Given the description of an element on the screen output the (x, y) to click on. 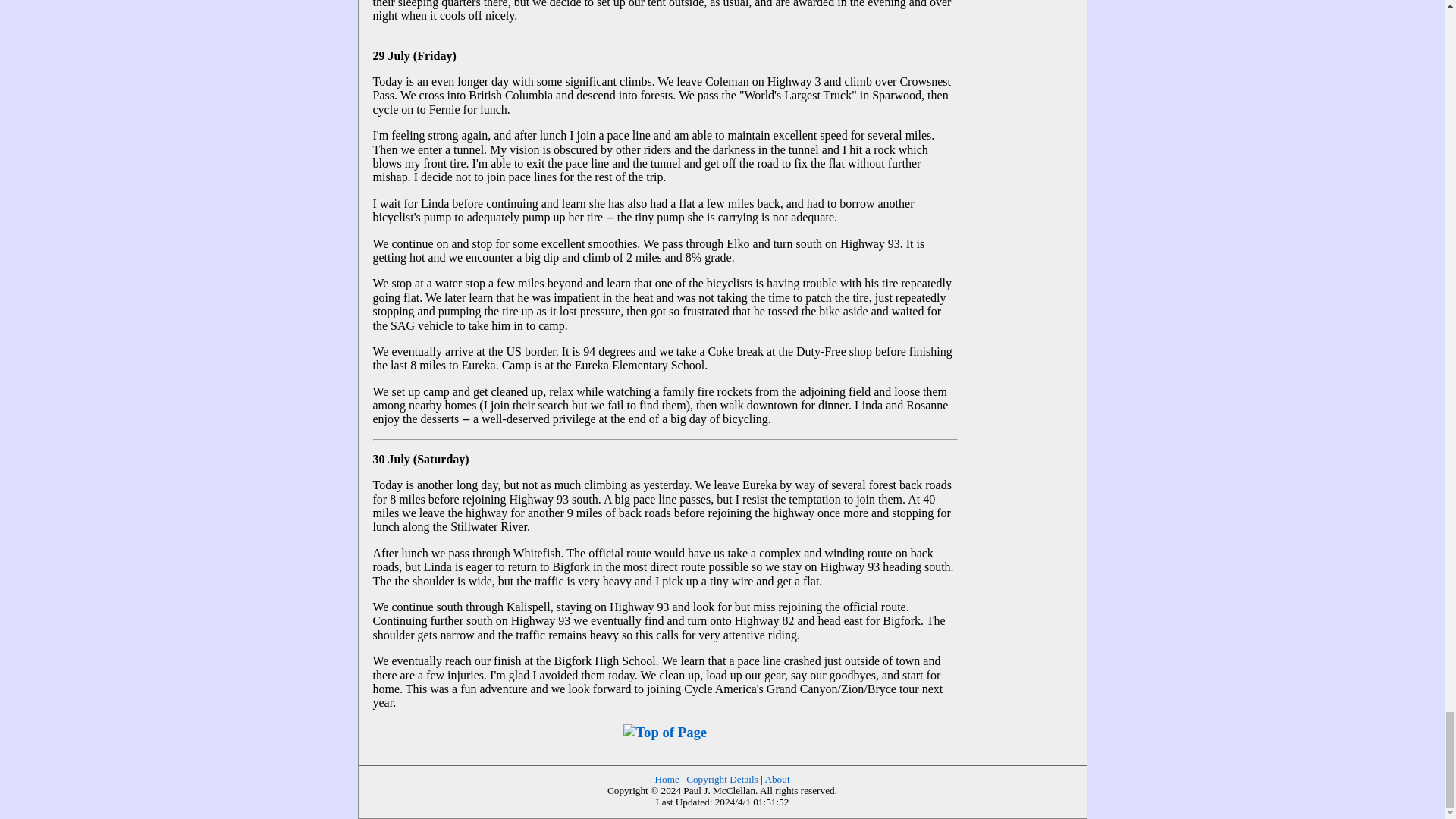
Top of Page (664, 731)
Copyright Details (721, 778)
Home (665, 778)
About (776, 778)
